Given the description of an element on the screen output the (x, y) to click on. 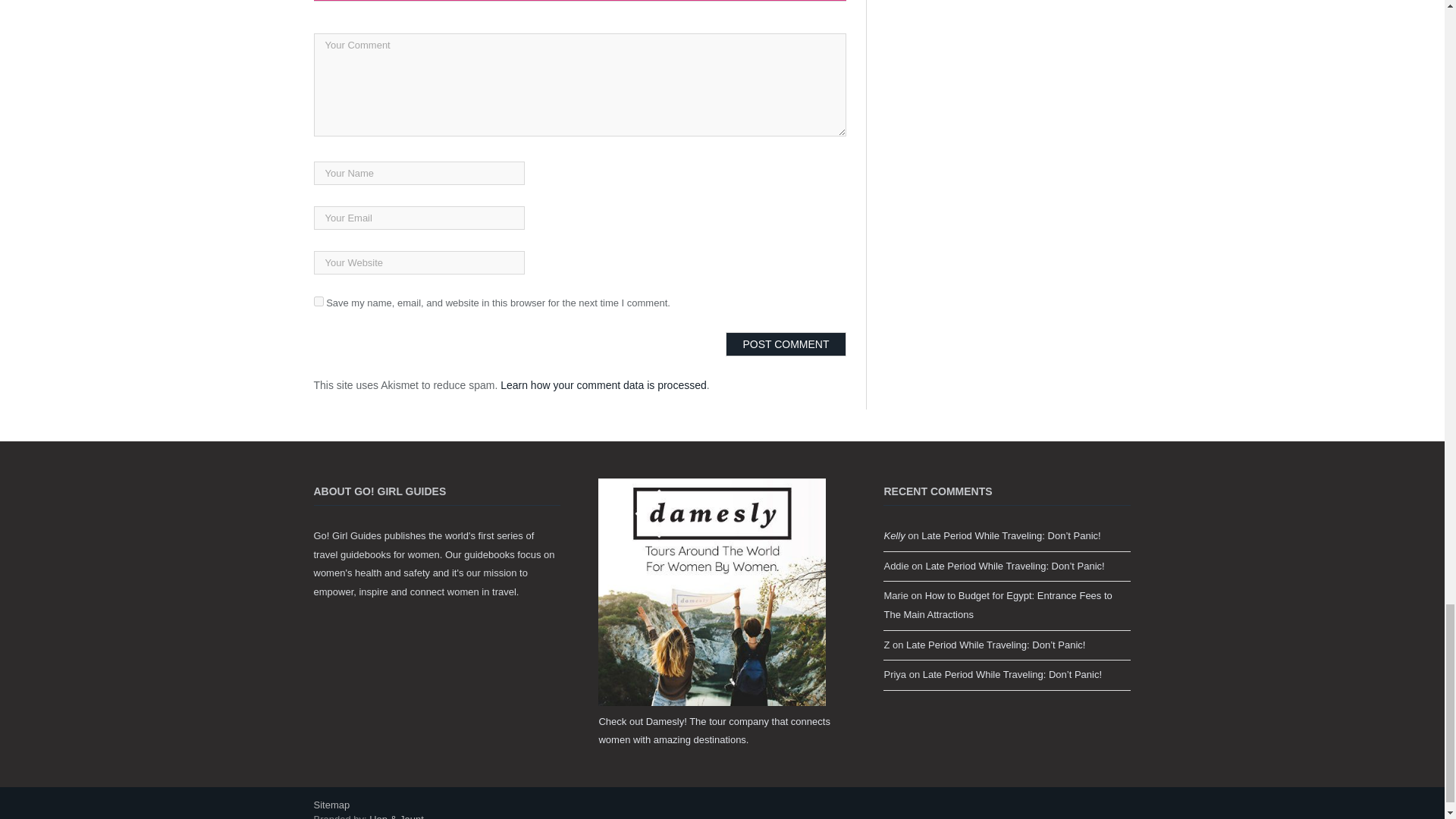
Post Comment (785, 344)
yes (318, 301)
